Given the description of an element on the screen output the (x, y) to click on. 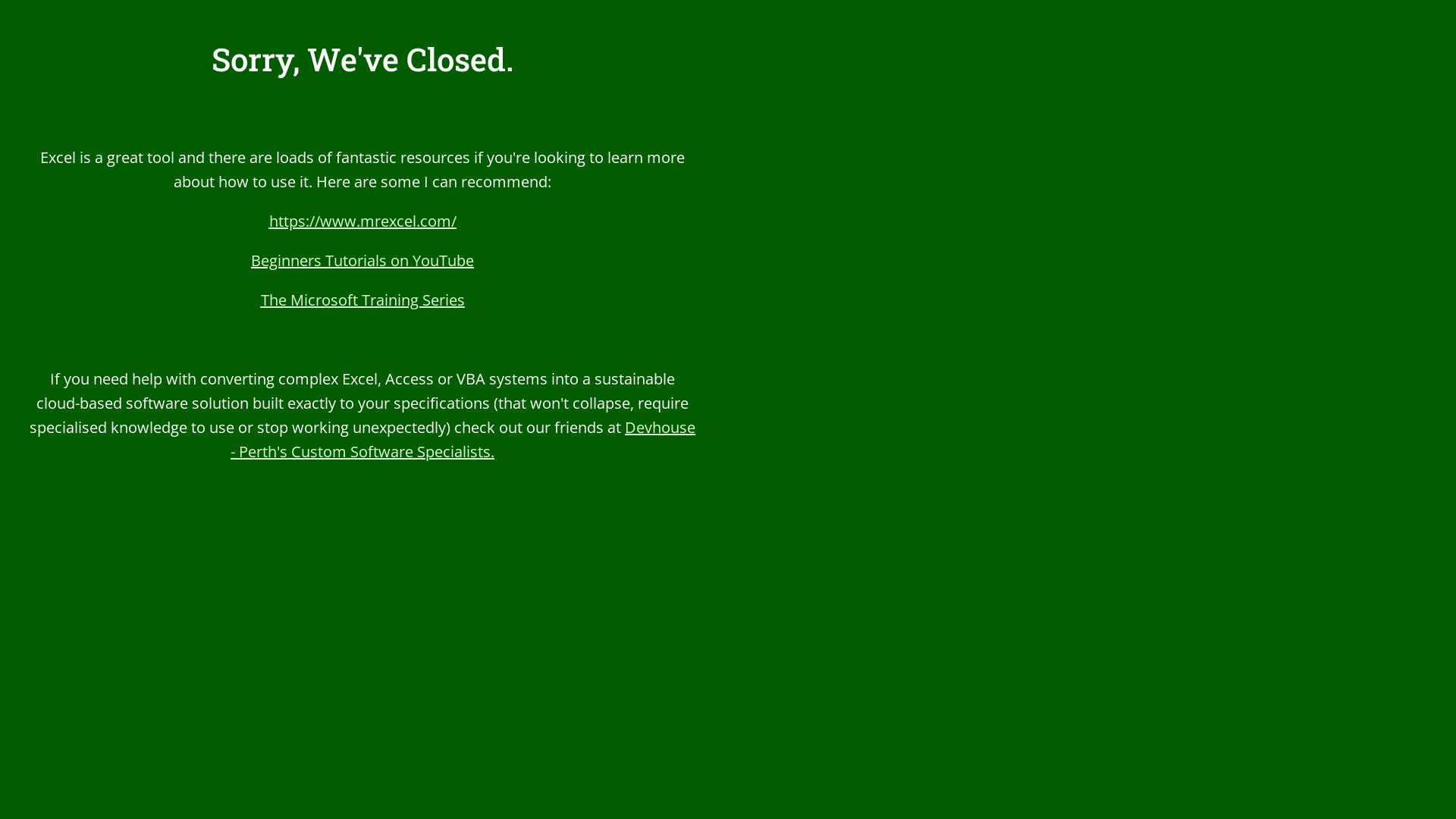
Beginners Tutorials on YouTube Element type: text (362, 260)
The Microsoft Training Series Element type: text (362, 299)
https://www.mrexcel.com/ Element type: text (361, 220)
Devhouse - Perth's Custom Software Specialists. Element type: text (462, 439)
